Given the description of an element on the screen output the (x, y) to click on. 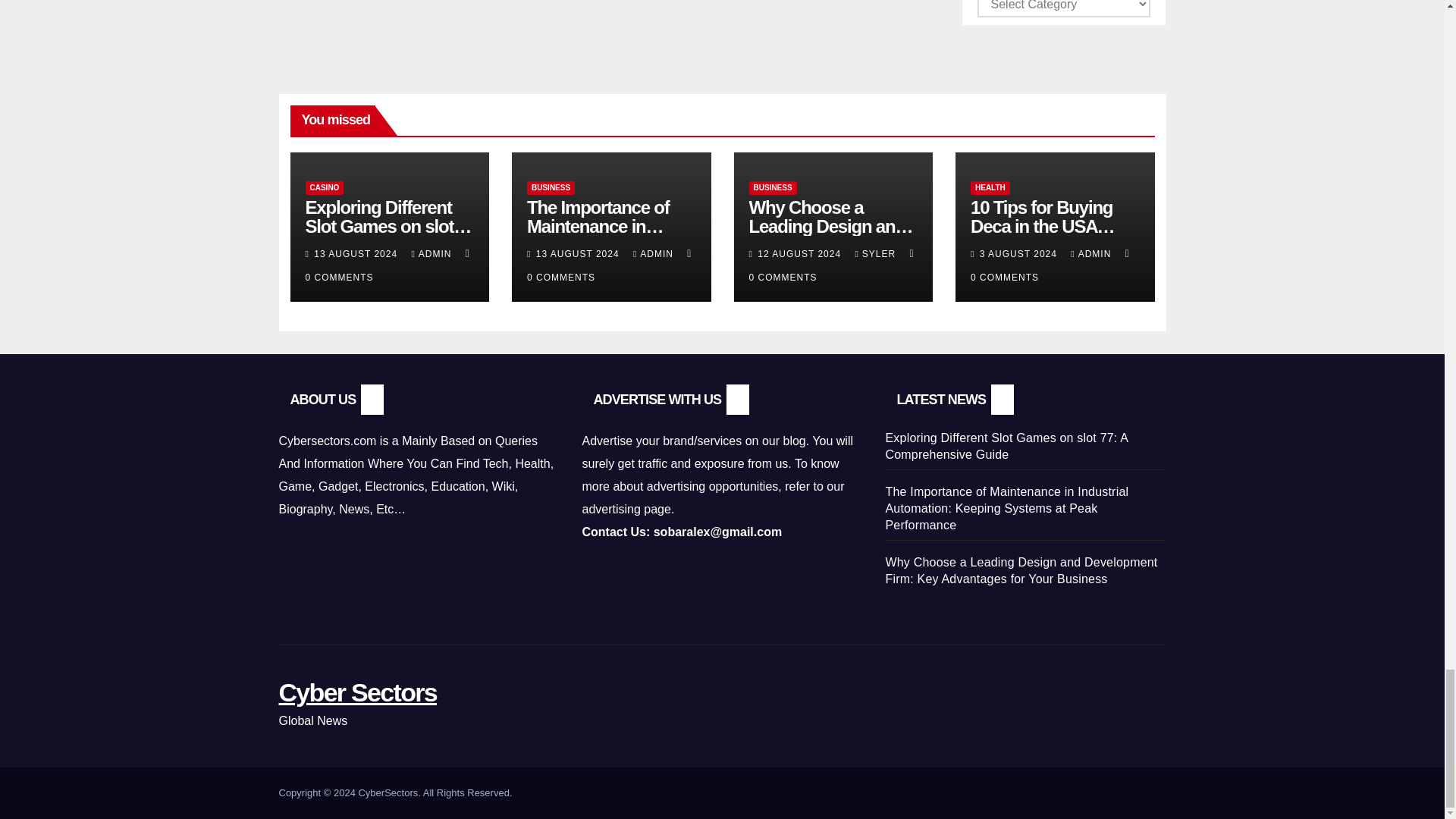
Permalink to: 10 Tips for Buying Deca in the USA Safely (1043, 226)
